Given the description of an element on the screen output the (x, y) to click on. 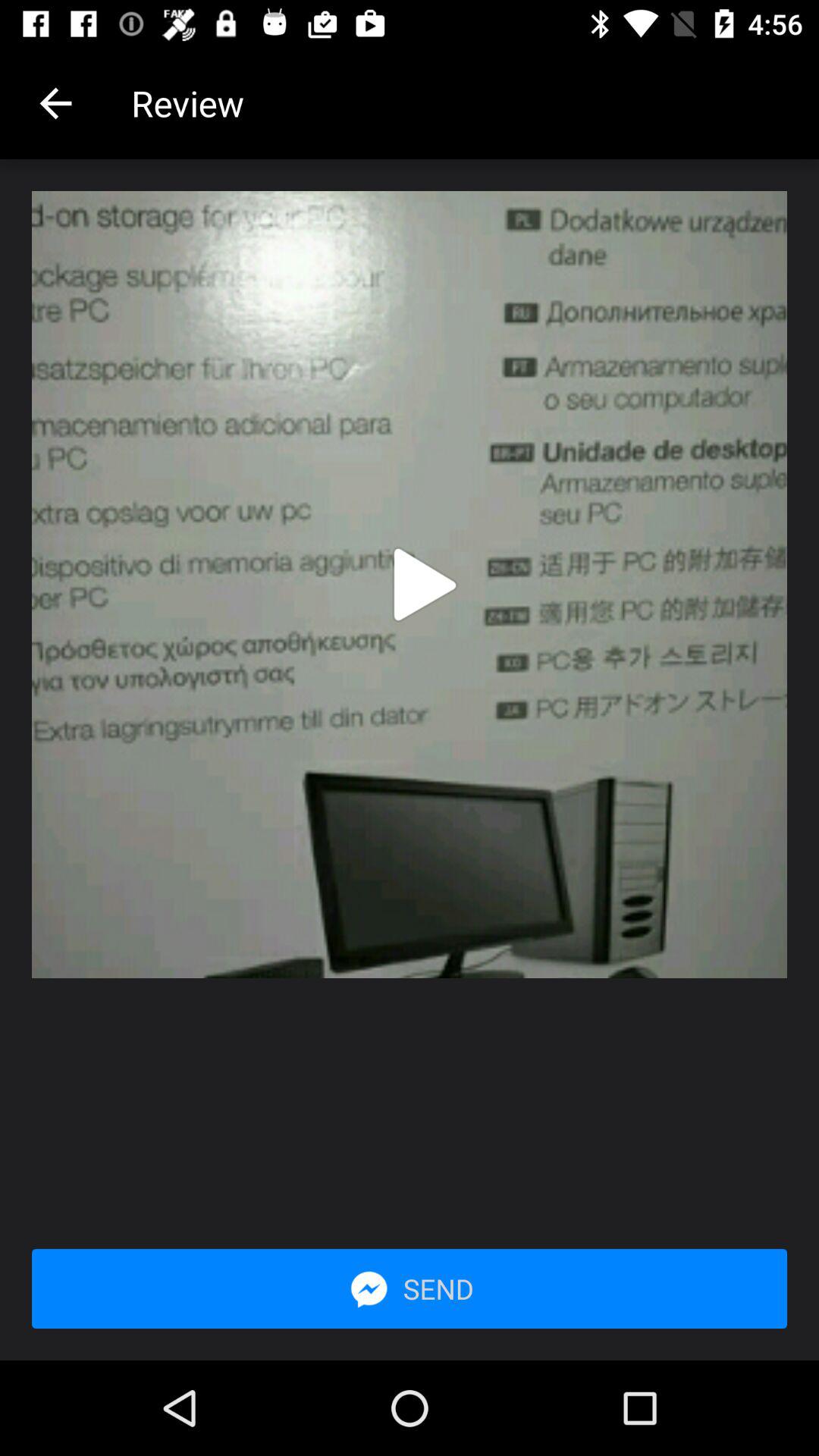
tap the item next to review app (55, 103)
